Given the description of an element on the screen output the (x, y) to click on. 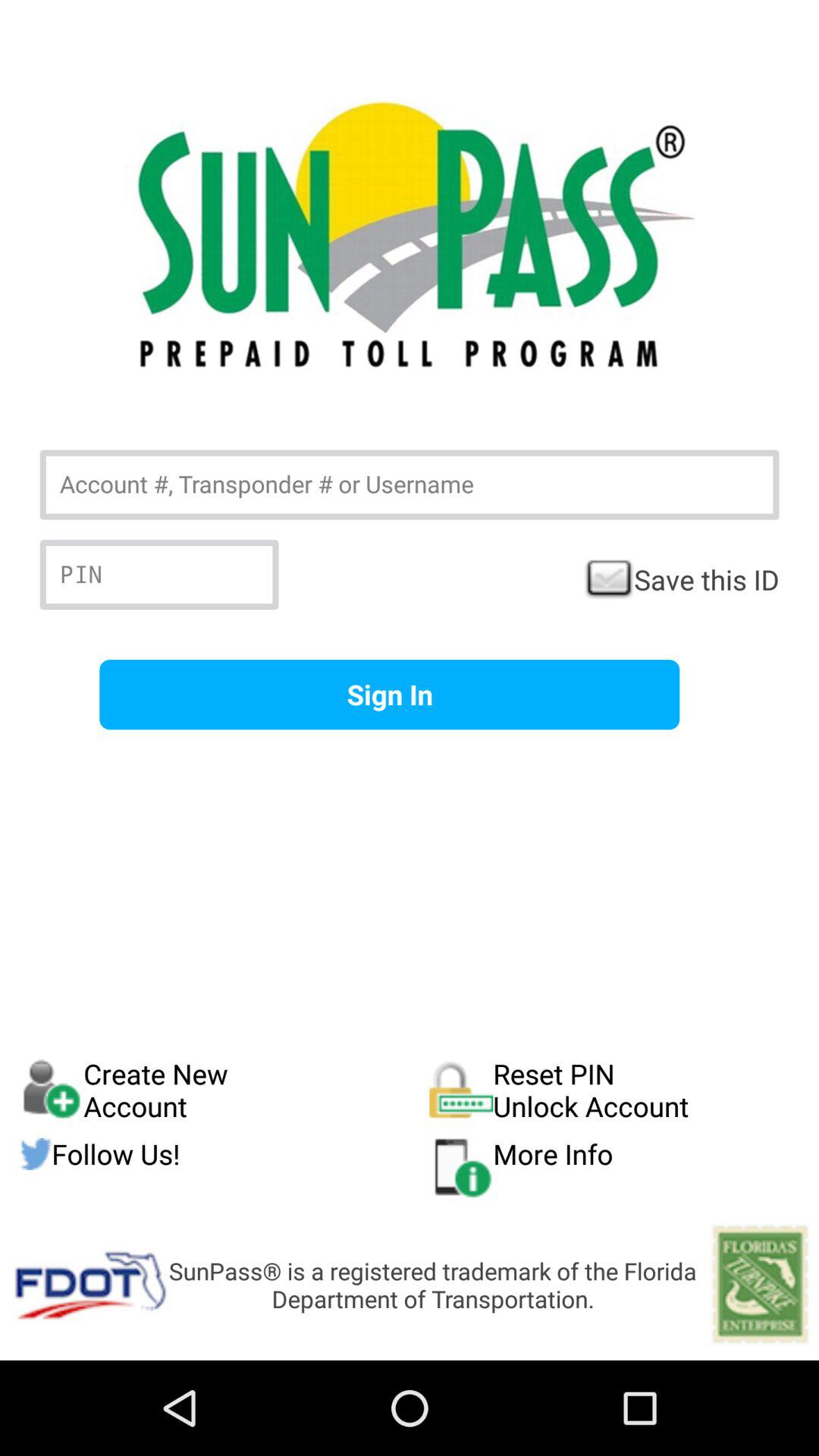
turn off item next to reset pin unlock (224, 1089)
